Given the description of an element on the screen output the (x, y) to click on. 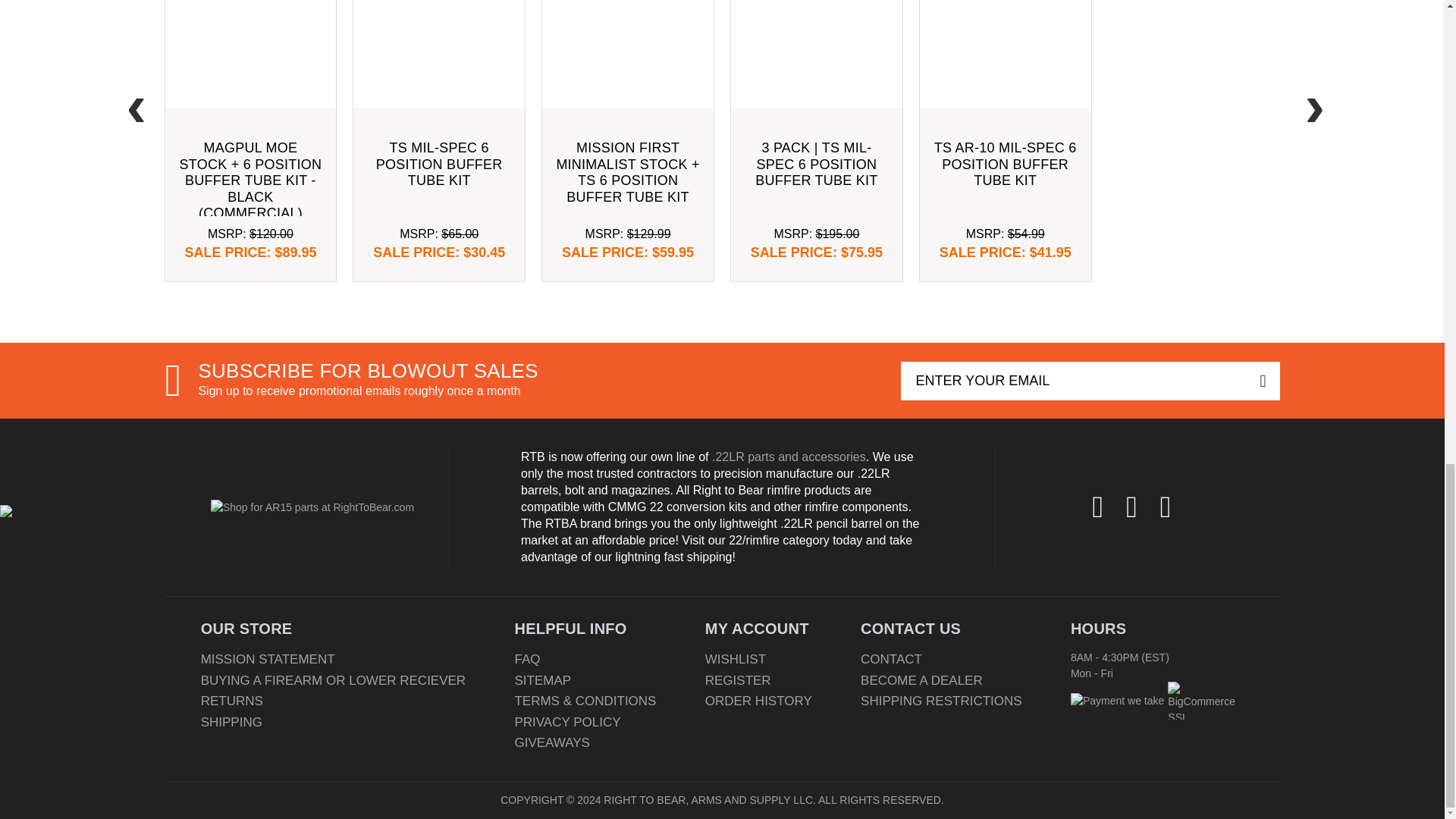
TS AR-10 Mil-spec 6 Position Buffer Tube Kit (1005, 53)
AR22 Parts and Accessories (788, 456)
